Given the description of an element on the screen output the (x, y) to click on. 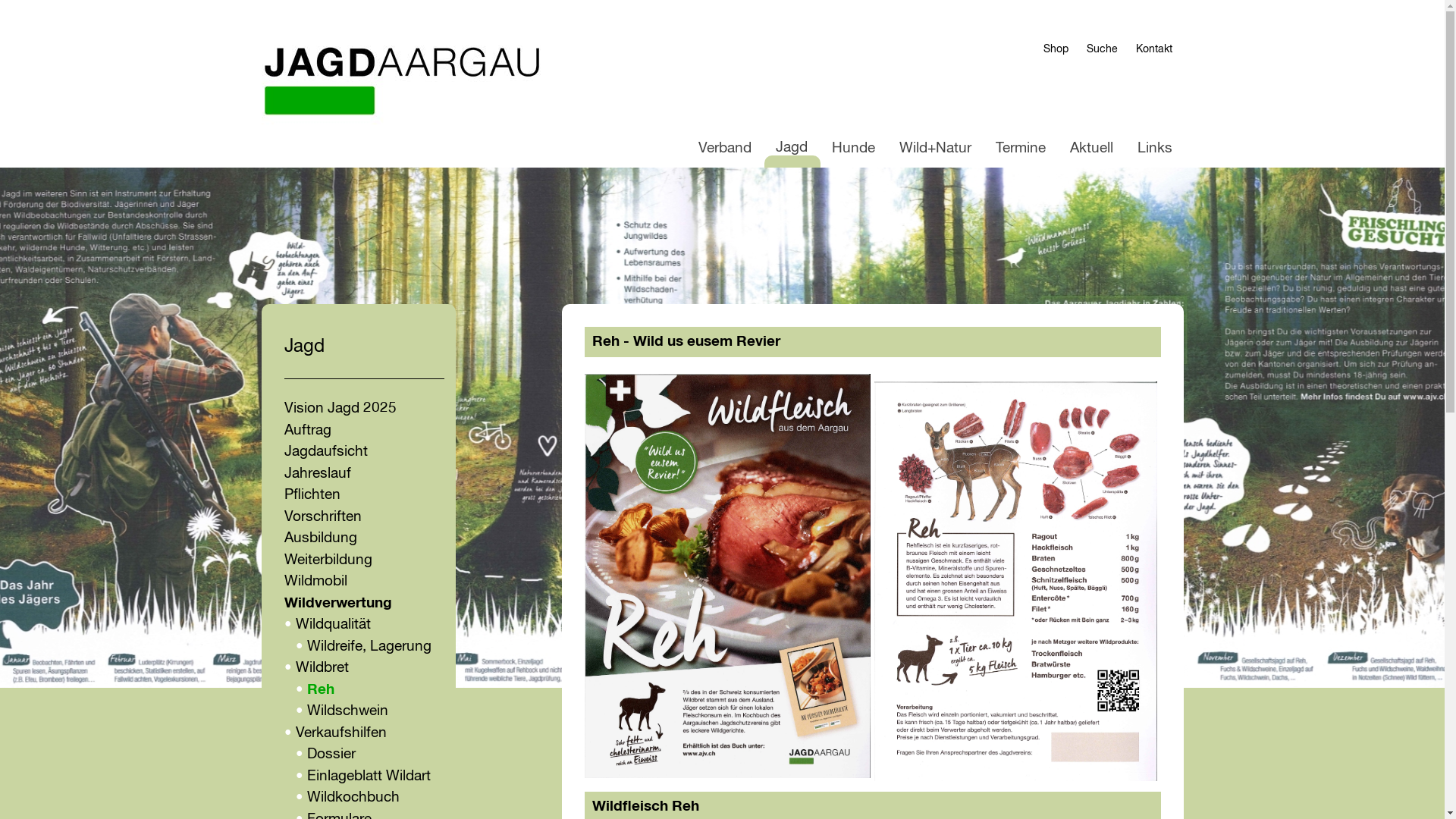
Kontakt Element type: text (1153, 48)
Weiterbildung Element type: text (327, 559)
Jagd Element type: text (791, 147)
Einlageblatt Wildart Element type: text (367, 775)
Vorschriften Element type: text (321, 516)
Verband Element type: text (724, 148)
Shop Element type: text (1055, 48)
Wildbret Element type: text (321, 667)
Auftrag Element type: text (306, 430)
Vision Jagd 2025 Element type: text (339, 408)
Verkaufshilfen Element type: text (340, 732)
Suche Element type: text (1101, 48)
Wildverwertung Element type: text (337, 603)
Wildkochbuch Element type: text (352, 797)
Aktuell Element type: text (1091, 148)
Wildreife, Lagerung Element type: text (368, 646)
Wildmobil Element type: text (314, 581)
Wild+Natur Element type: text (934, 148)
Hunde Element type: text (853, 148)
Termine Element type: text (1020, 148)
Jahreslauf Element type: text (316, 473)
Dossier Element type: text (330, 753)
Wildschwein Element type: text (346, 710)
Reh Element type: text (319, 689)
Jagdaufsicht Element type: text (325, 451)
Pflichten Element type: text (311, 494)
Ausbildung Element type: text (319, 537)
Links Element type: text (1154, 148)
